Given the description of an element on the screen output the (x, y) to click on. 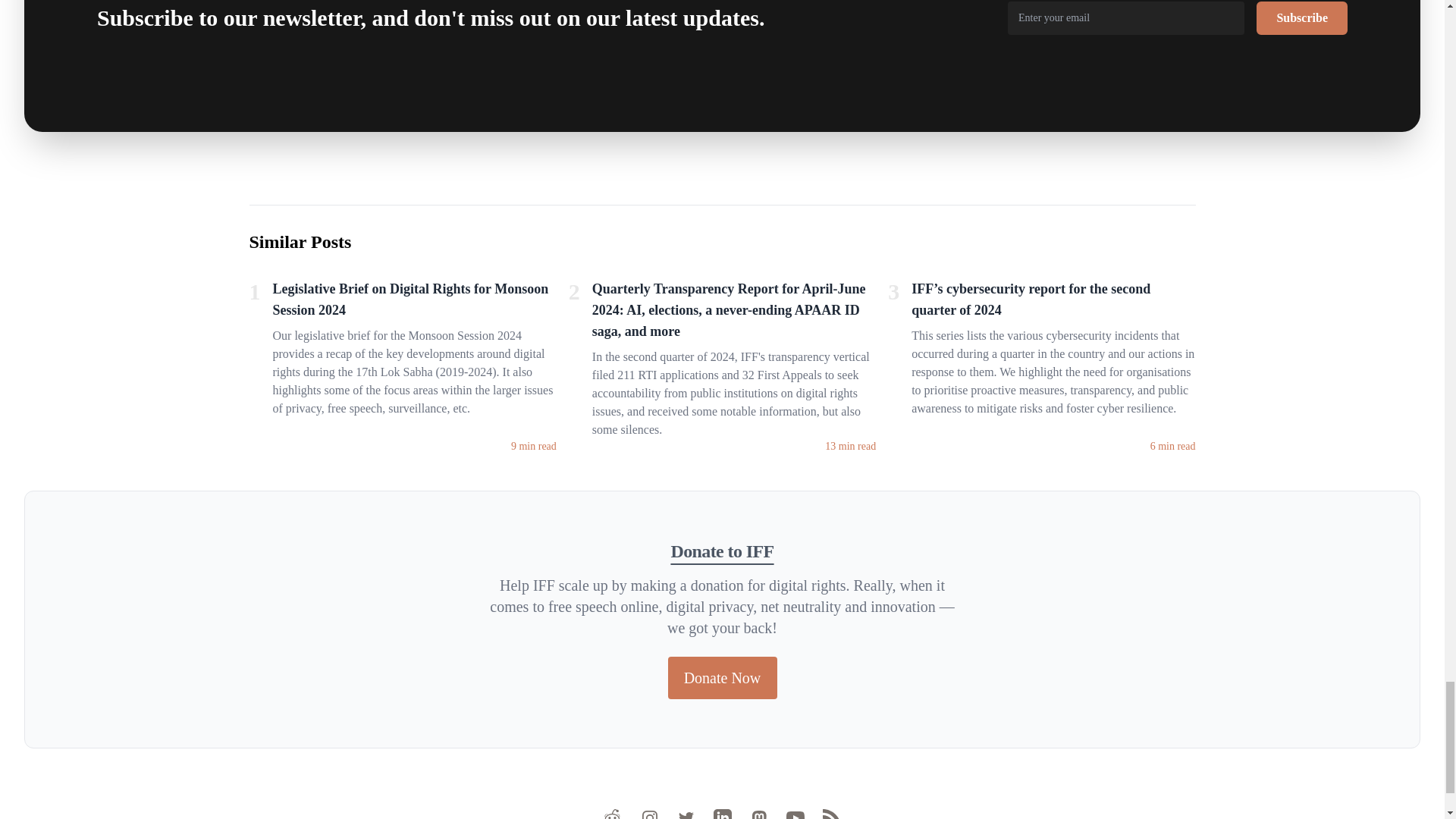
Youtube (794, 814)
Reddit (612, 814)
Linkedin (721, 814)
Subscribe (1302, 18)
Twitter (685, 814)
Mastodon (758, 814)
Legislative Brief on Digital Rights for Monsoon Session 2024 (414, 302)
Instagram (649, 814)
RSS (831, 814)
Donate Now (721, 677)
